Given the description of an element on the screen output the (x, y) to click on. 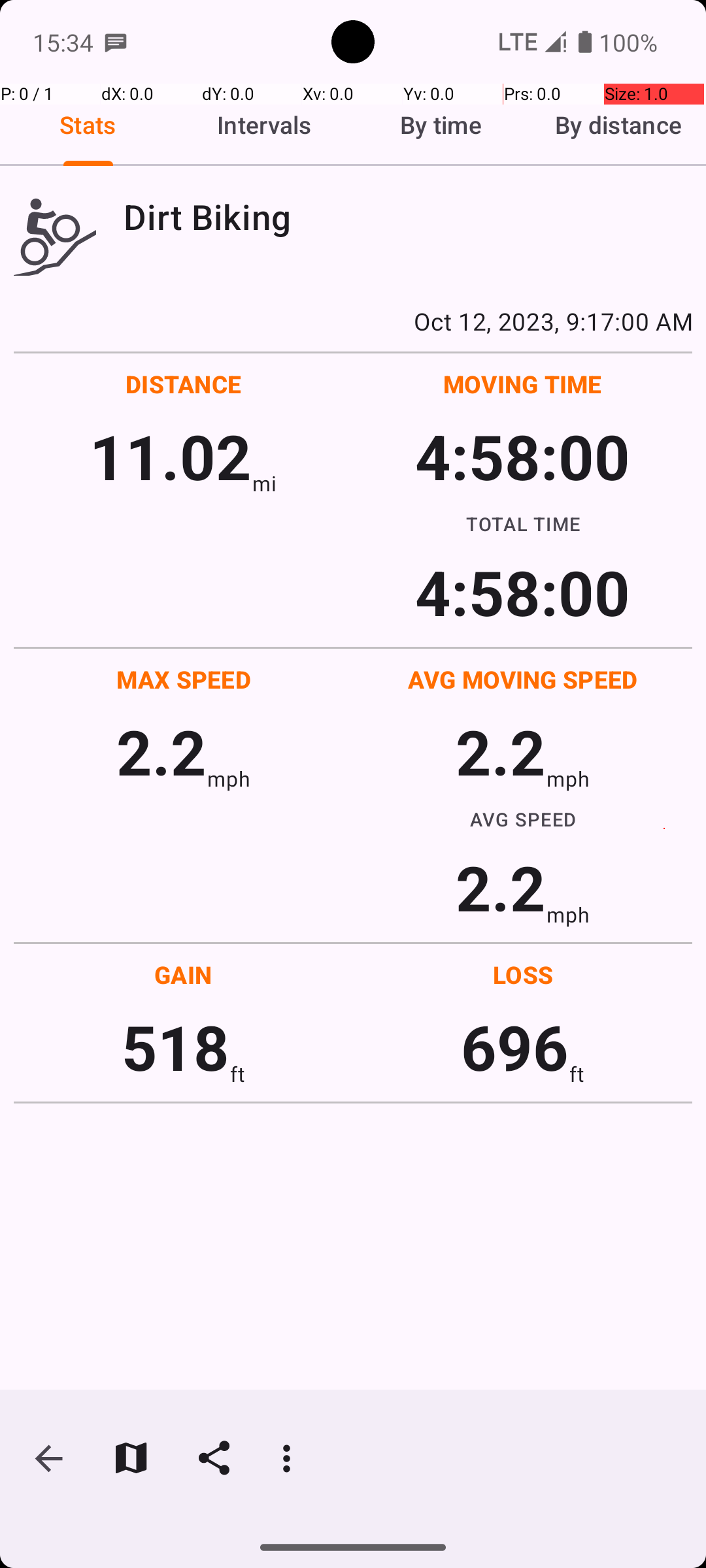
Dirt Biking Element type: android.widget.TextView (407, 216)
Oct 12, 2023, 9:17:00 AM Element type: android.widget.TextView (352, 320)
11.02 Element type: android.widget.TextView (170, 455)
4:58:00 Element type: android.widget.TextView (522, 455)
2.2 Element type: android.widget.TextView (161, 750)
518 Element type: android.widget.TextView (175, 1045)
696 Element type: android.widget.TextView (514, 1045)
